Given the description of an element on the screen output the (x, y) to click on. 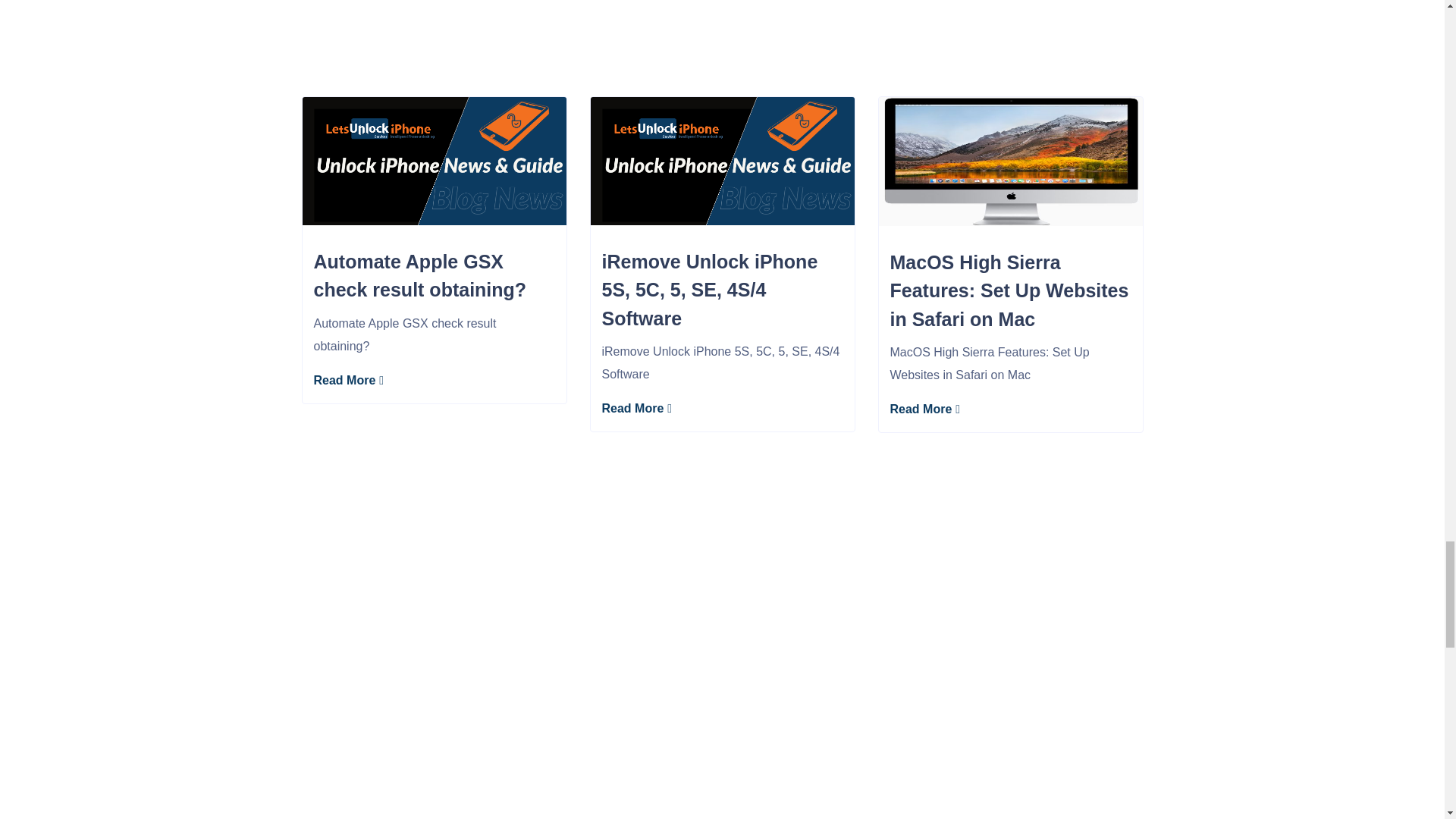
Read More (349, 379)
Automate Apple GSX check result obtaining? (434, 276)
MacOS High Sierra Features: Set Up Websites in Safari on Mac (1010, 291)
Automate Apple GSX check result obtaining? (434, 276)
